Given the description of an element on the screen output the (x, y) to click on. 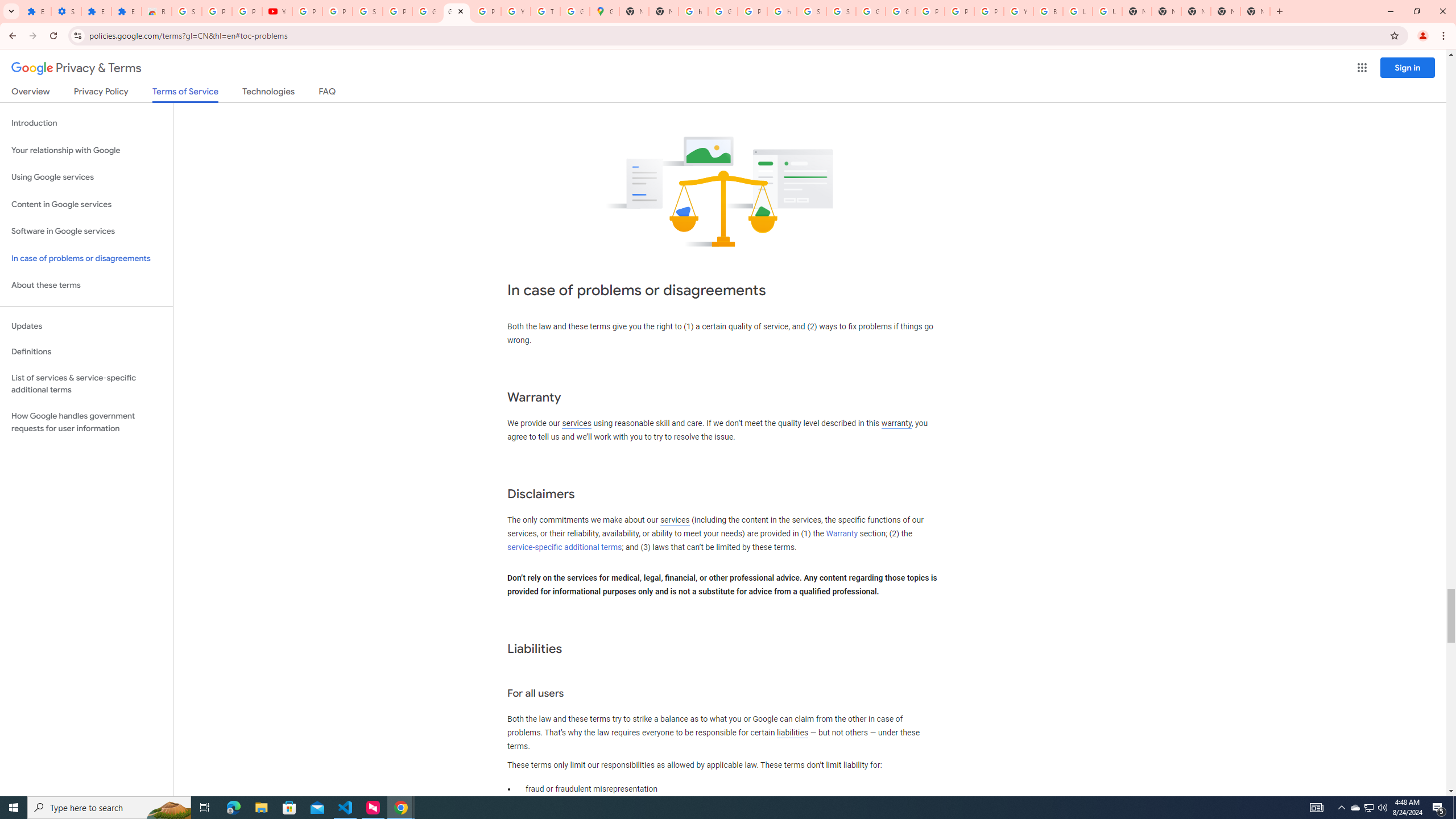
Reviews: Helix Fruit Jump Arcade Game (156, 11)
Privacy Help Center - Policies Help (929, 11)
New Tab (1254, 11)
